Given the description of an element on the screen output the (x, y) to click on. 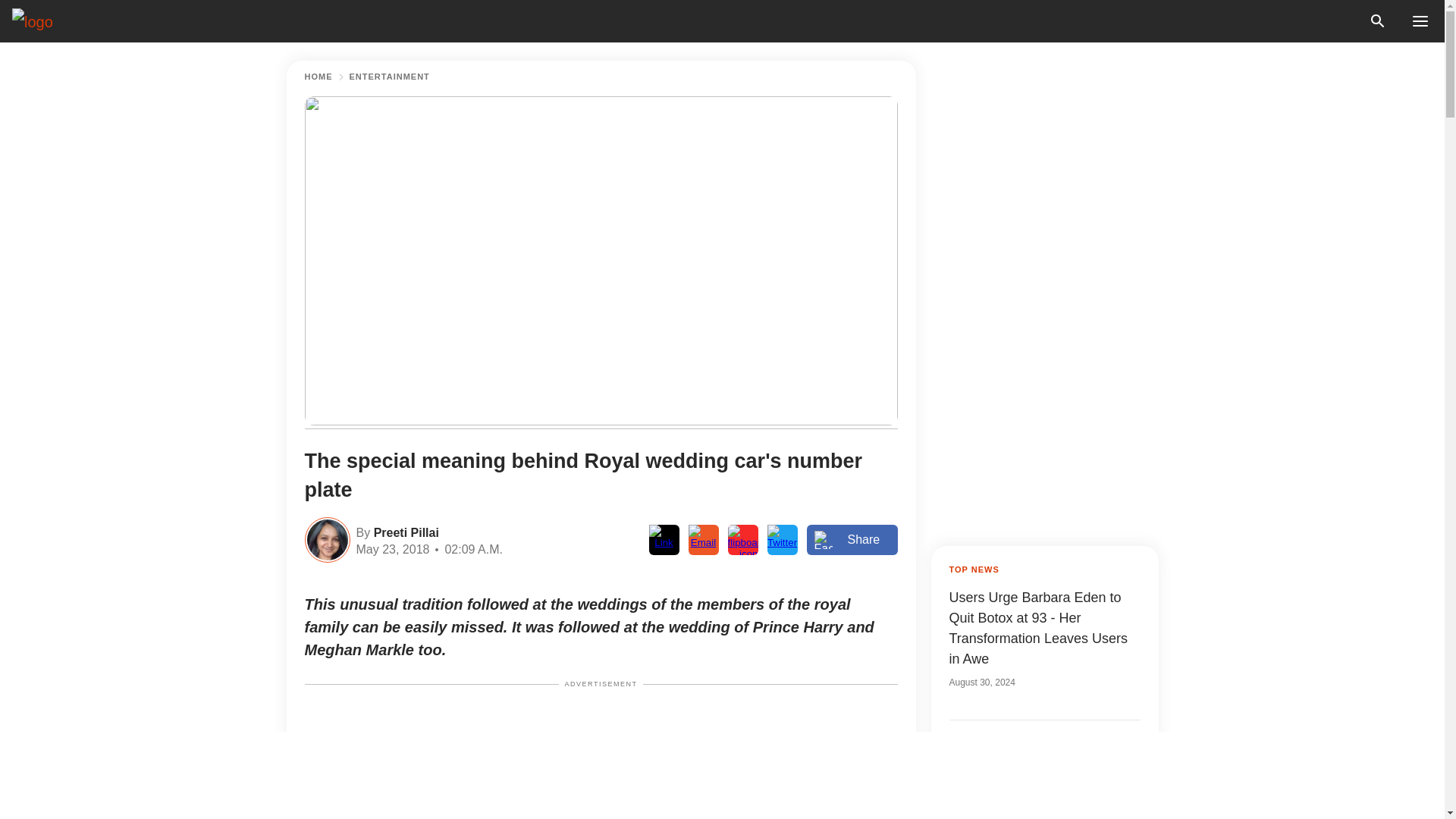
ENTERTAINMENT (389, 76)
HOME (318, 76)
Preeti Pillai (404, 531)
